Given the description of an element on the screen output the (x, y) to click on. 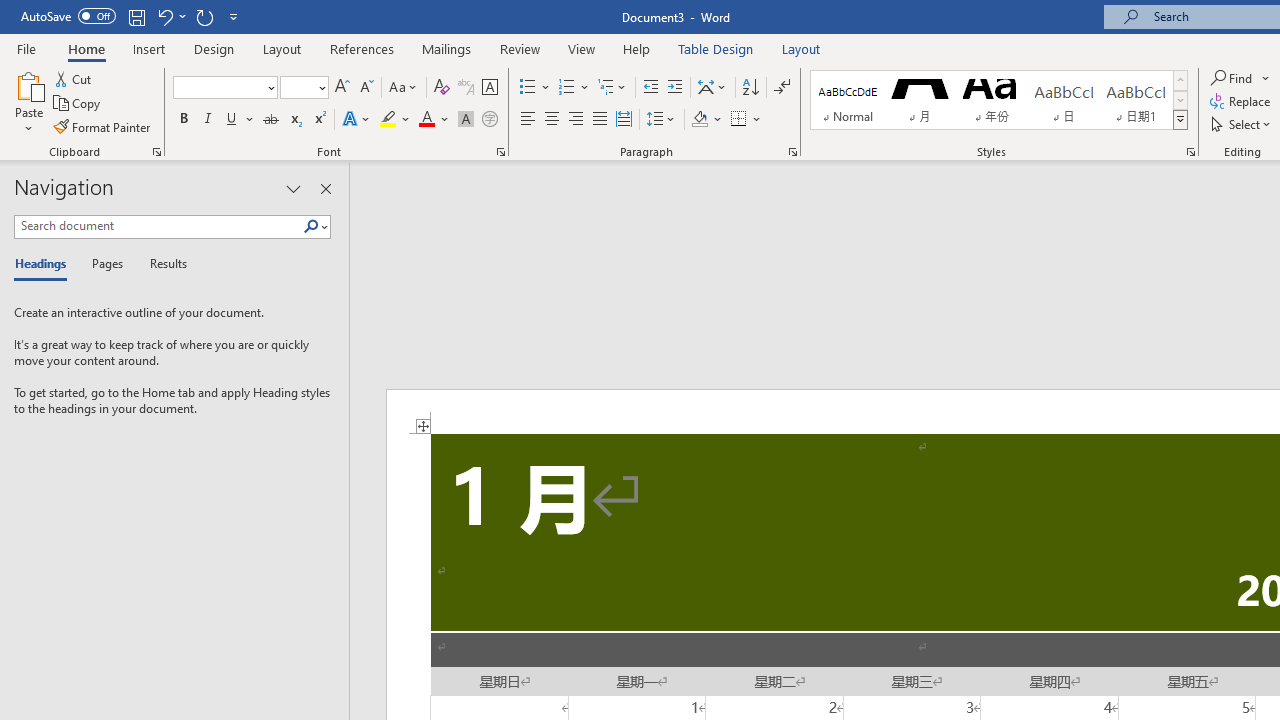
References (362, 48)
Task Pane Options (293, 188)
Distributed (623, 119)
Character Border (489, 87)
Align Right (575, 119)
Change Case (404, 87)
Shrink Font (365, 87)
Select (1242, 124)
AutoSave (68, 16)
Copy (78, 103)
Find (1240, 78)
